Given the description of an element on the screen output the (x, y) to click on. 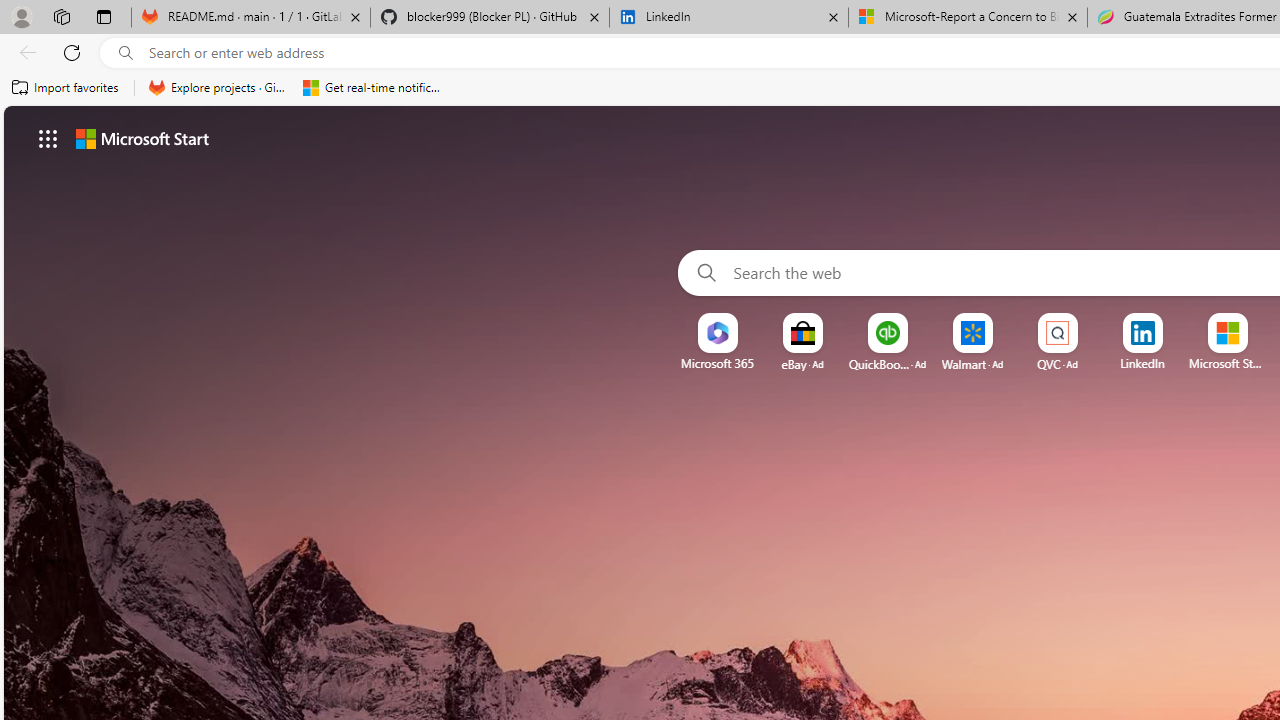
App launcher (47, 138)
Import favorites (65, 88)
